Given the description of an element on the screen output the (x, y) to click on. 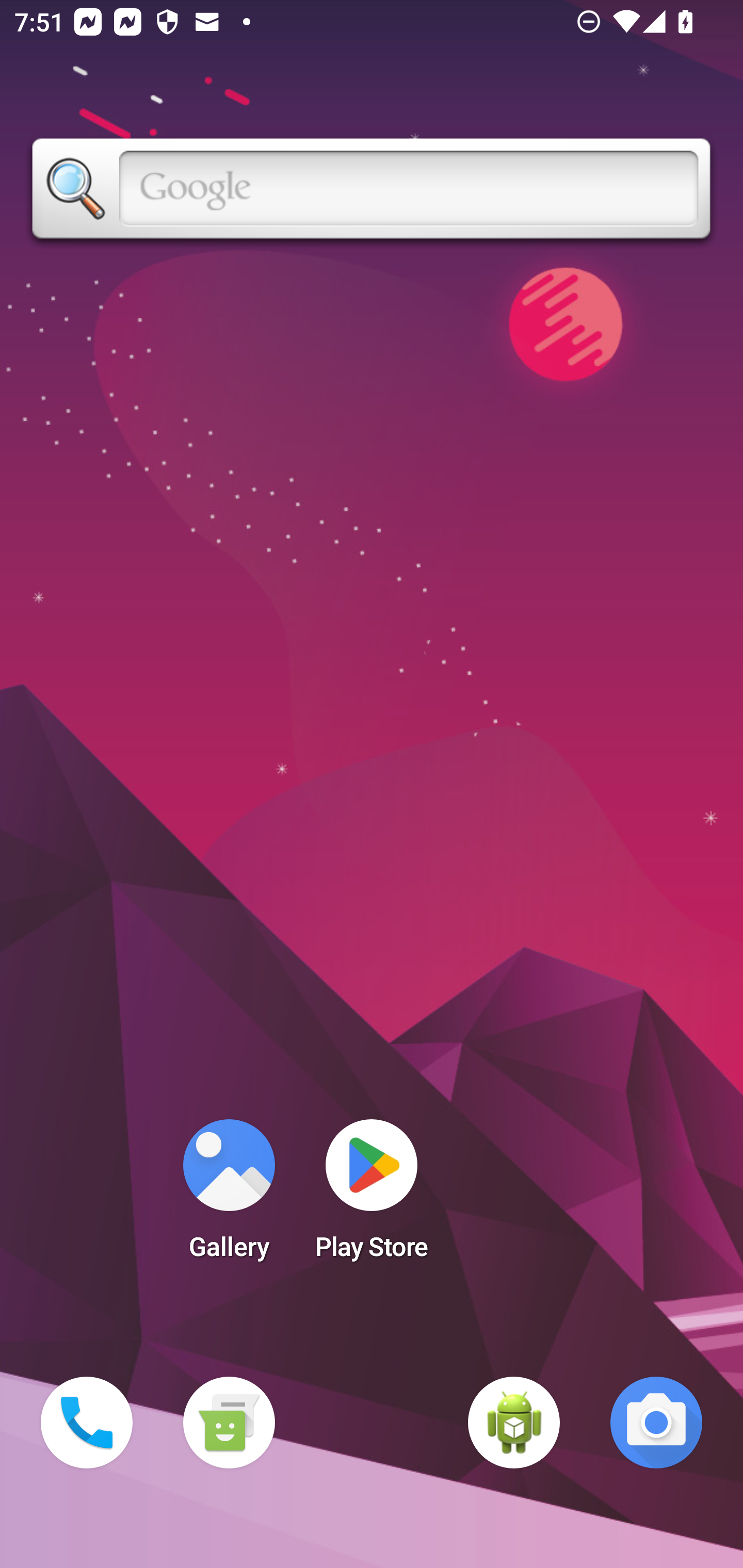
Gallery (228, 1195)
Play Store (371, 1195)
Phone (86, 1422)
Messaging (228, 1422)
WebView Browser Tester (513, 1422)
Camera (656, 1422)
